Given the description of an element on the screen output the (x, y) to click on. 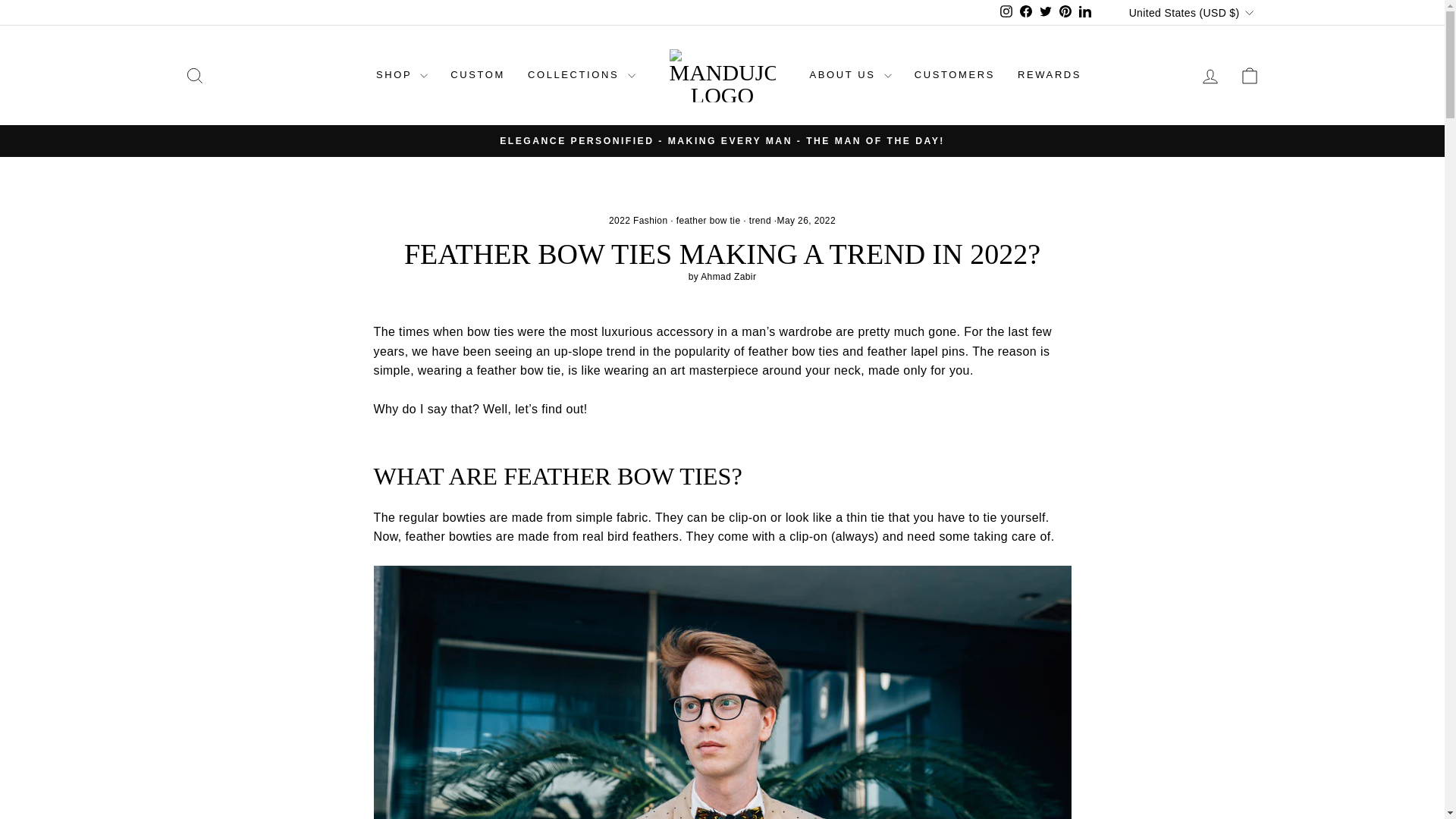
ICON-BAG-MINIMAL (1249, 75)
ICON-SEARCH (194, 75)
twitter (1045, 10)
ACCOUNT (1210, 76)
instagram (1005, 10)
